Given the description of an element on the screen output the (x, y) to click on. 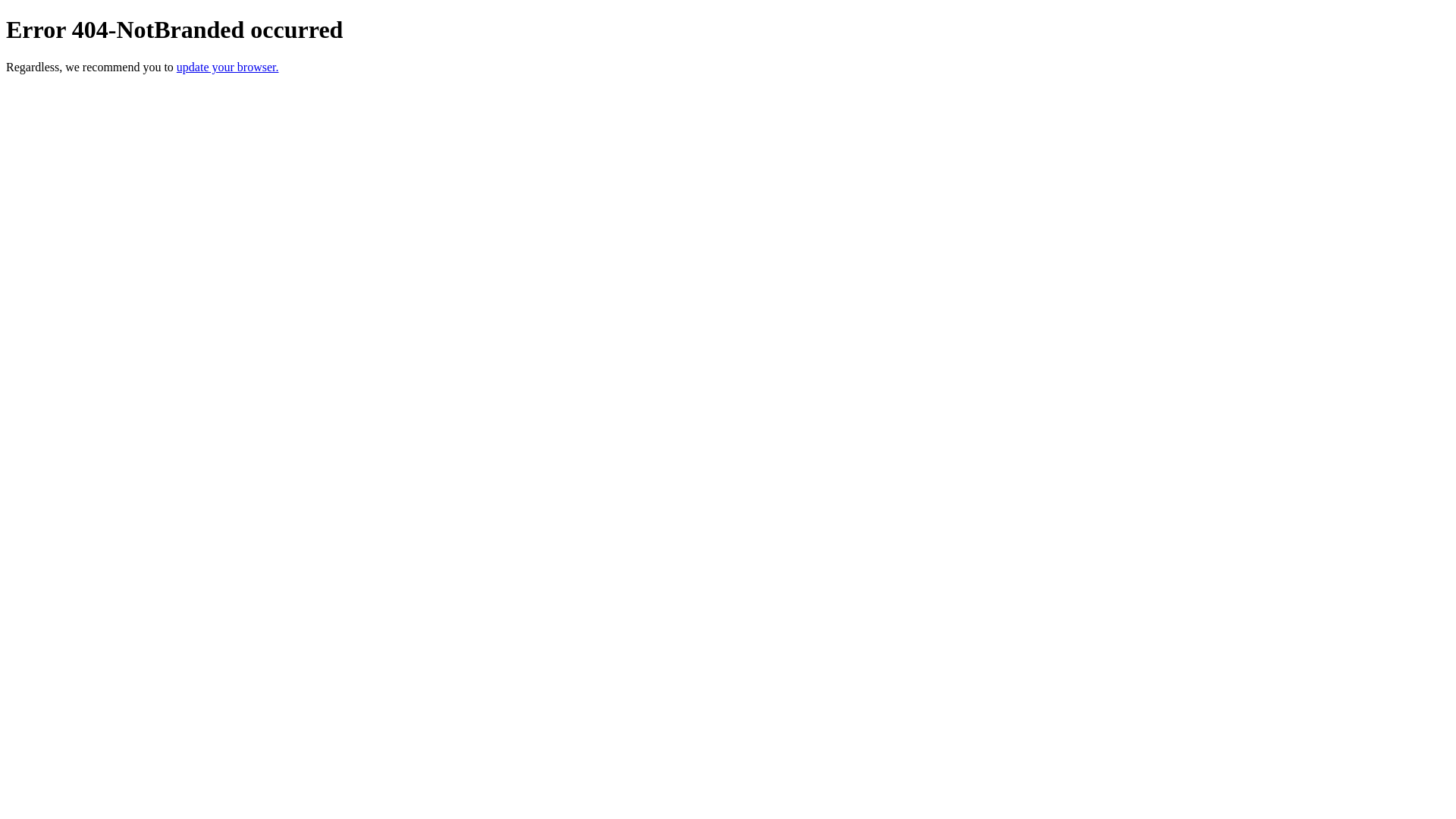
update your browser. Element type: text (227, 66)
